Given the description of an element on the screen output the (x, y) to click on. 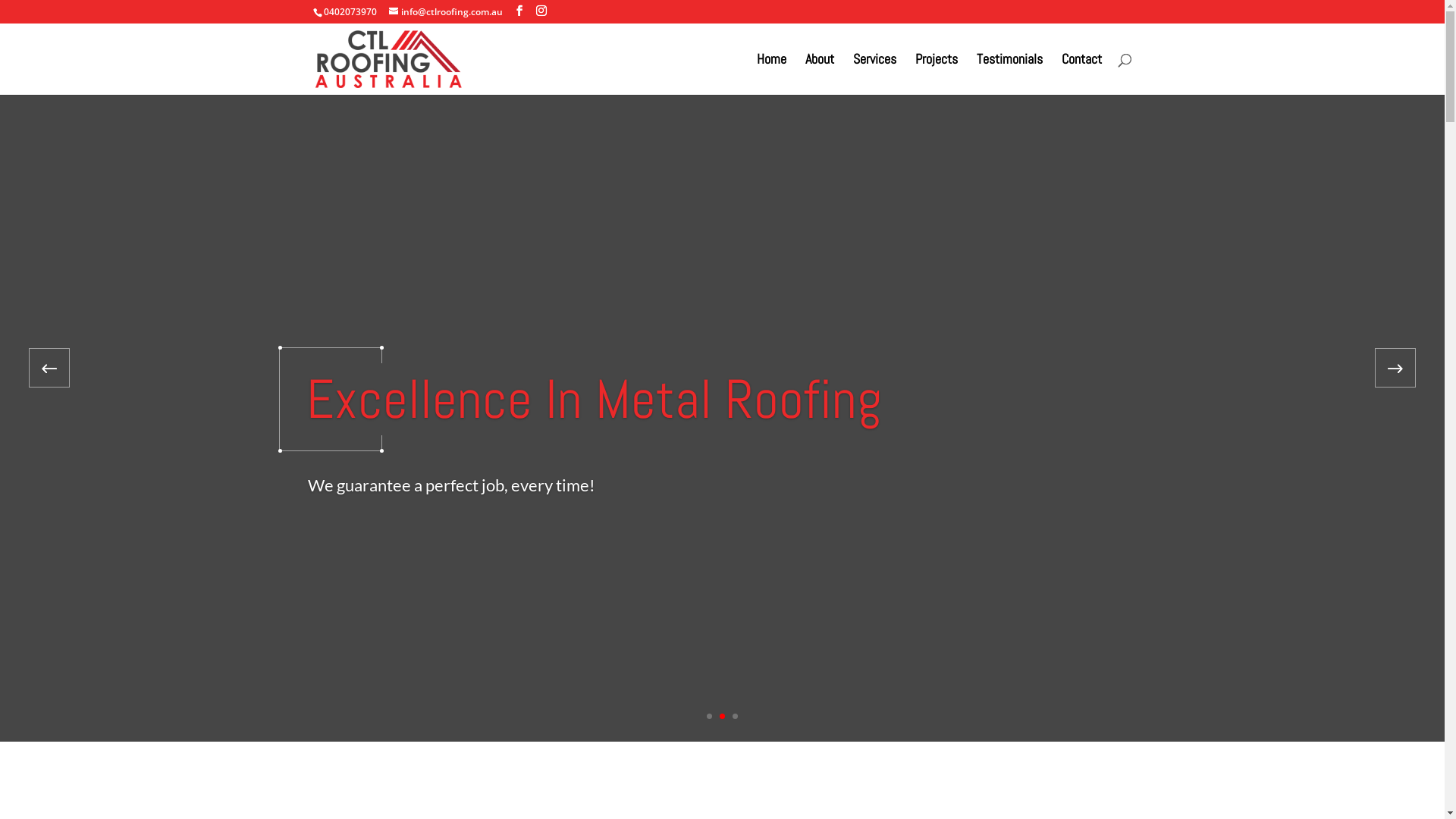
2 Element type: text (721, 715)
info@ctlroofing.com.au Element type: text (445, 11)
Projects Element type: text (935, 73)
About Element type: text (819, 73)
3 Element type: text (734, 715)
Home Element type: text (771, 73)
1 Element type: text (709, 715)
Services Element type: text (873, 73)
Testimonials Element type: text (1009, 73)
Contact Element type: text (1081, 73)
